Given the description of an element on the screen output the (x, y) to click on. 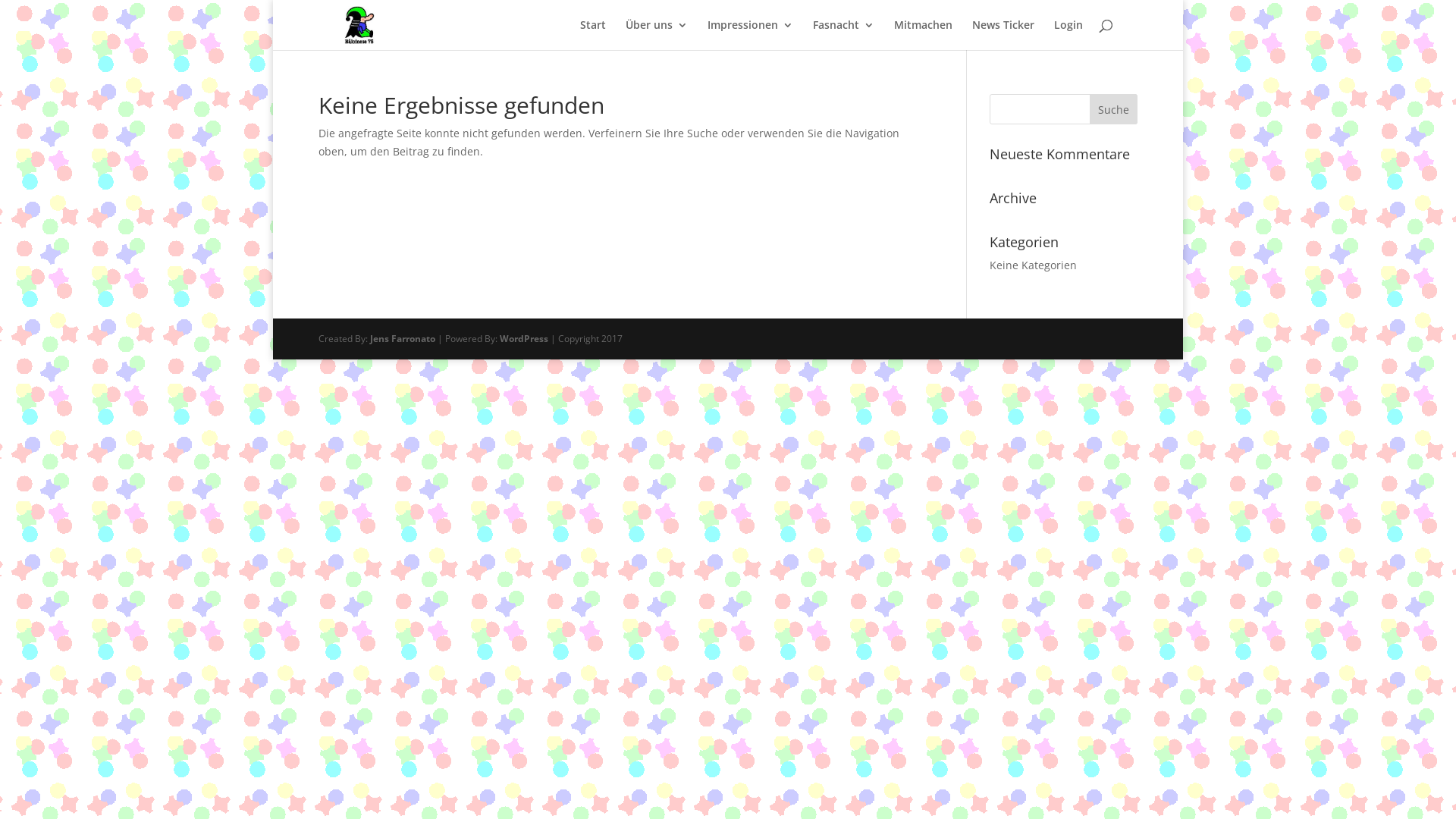
Login Element type: text (1068, 34)
News Ticker Element type: text (1003, 34)
Impressionen Element type: text (750, 34)
Fasnacht Element type: text (843, 34)
Start Element type: text (592, 34)
Jens Farronato Element type: text (402, 338)
Suche Element type: text (1113, 109)
Mitmachen Element type: text (923, 34)
WordPress Element type: text (523, 338)
